Given the description of an element on the screen output the (x, y) to click on. 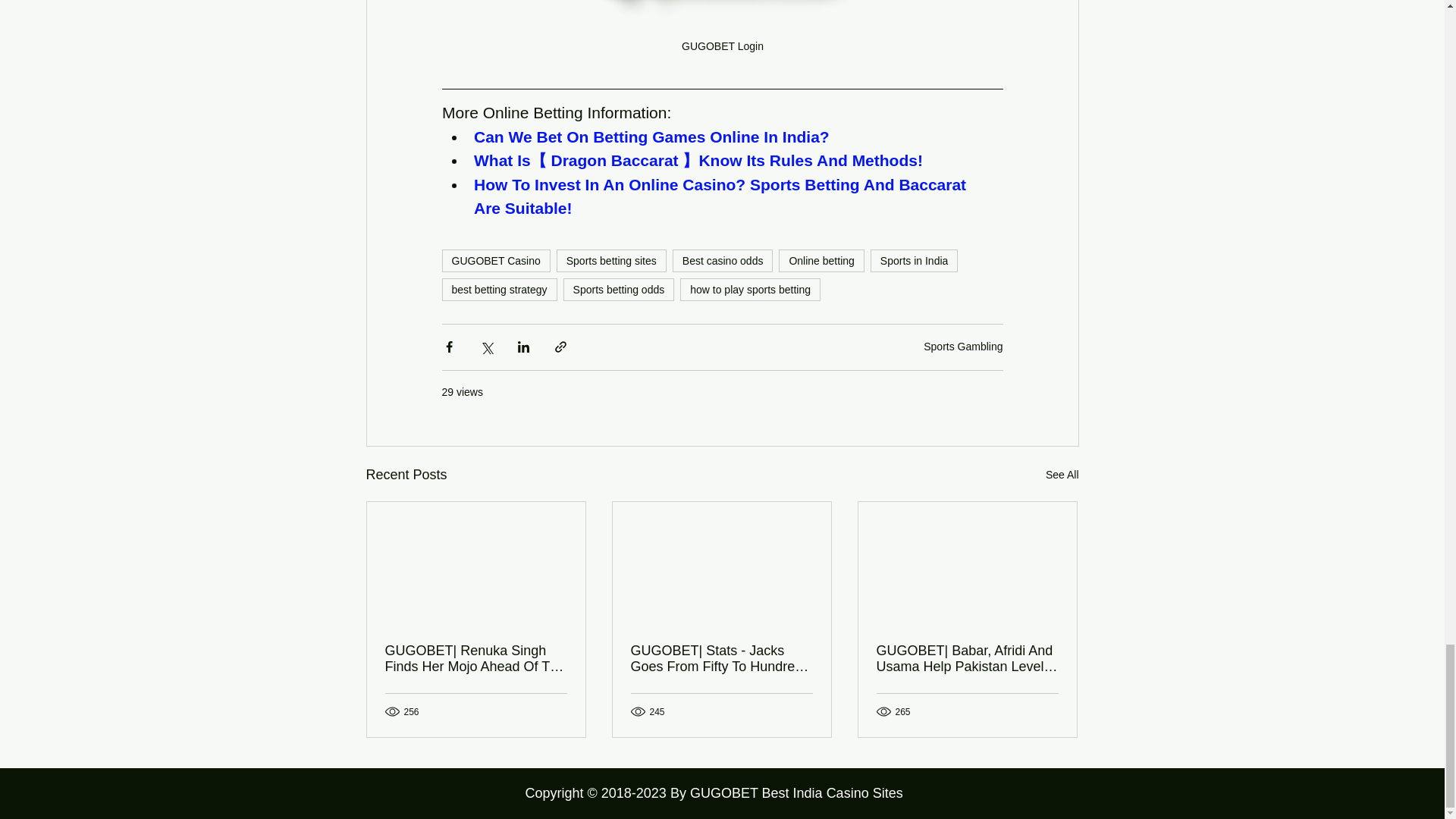
how to play sports betting (750, 289)
See All (1061, 475)
Best casino odds (722, 260)
best betting strategy (498, 289)
Sports in India (914, 260)
Can We Bet On Betting Games Online In India? (650, 136)
GUGOBET Casino (495, 260)
Sports betting odds (619, 289)
Sports betting sites (611, 260)
GUGOBET Login (722, 34)
Sports Gambling (963, 346)
Online betting (820, 260)
